Given the description of an element on the screen output the (x, y) to click on. 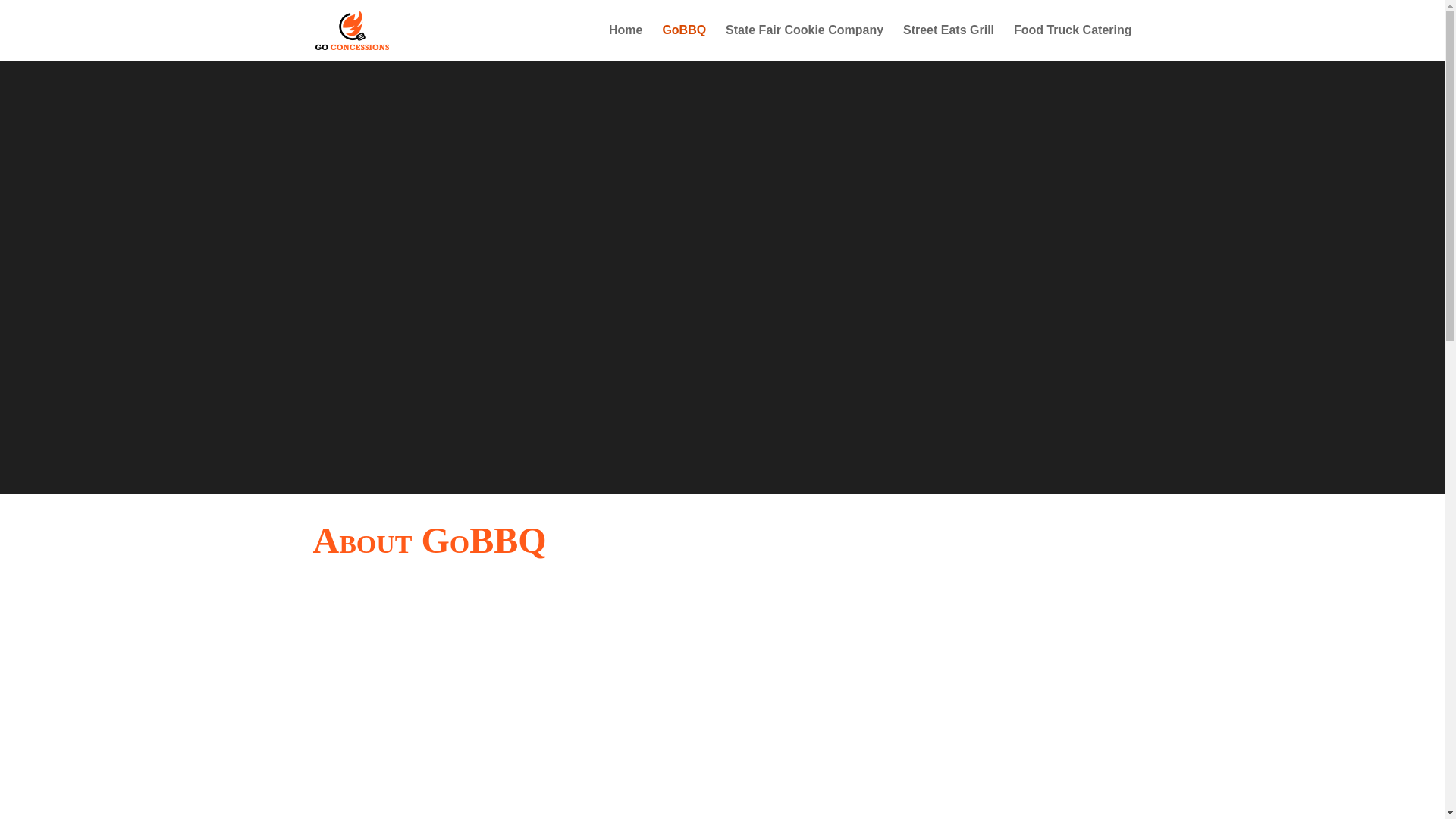
Street Eats Grill (948, 42)
State Fair Cookie Company (804, 42)
GoBBQ (684, 42)
Home (625, 42)
Food Truck Catering (1072, 42)
